Given the description of an element on the screen output the (x, y) to click on. 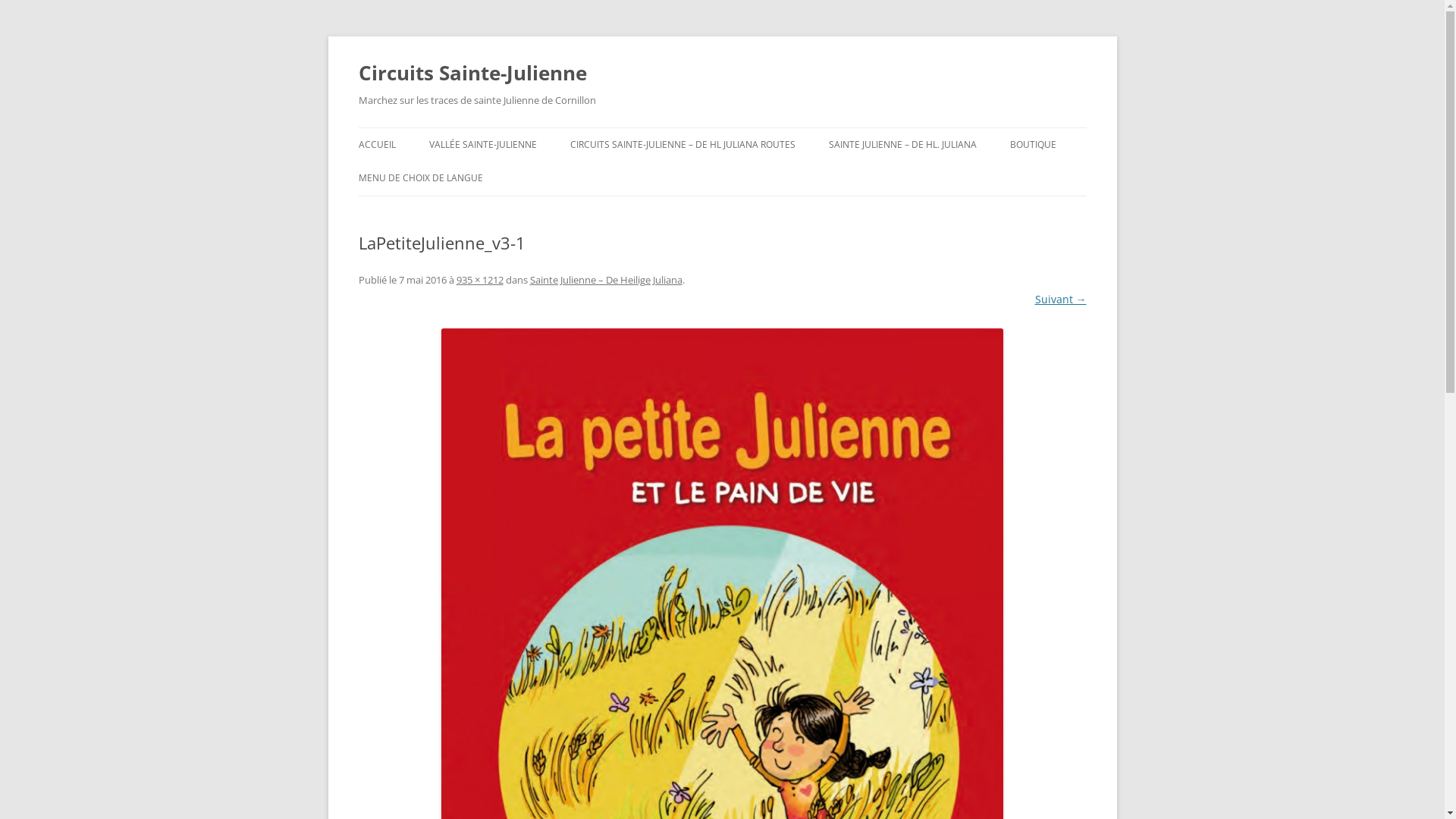
MENU DE CHOIX DE LANGUE Element type: text (419, 177)
ACCUEIL Element type: text (376, 144)
Circuits Sainte-Julienne Element type: text (471, 72)
Aller au contenu Element type: text (721, 127)
BOUTIQUE Element type: text (1033, 144)
